Given the description of an element on the screen output the (x, y) to click on. 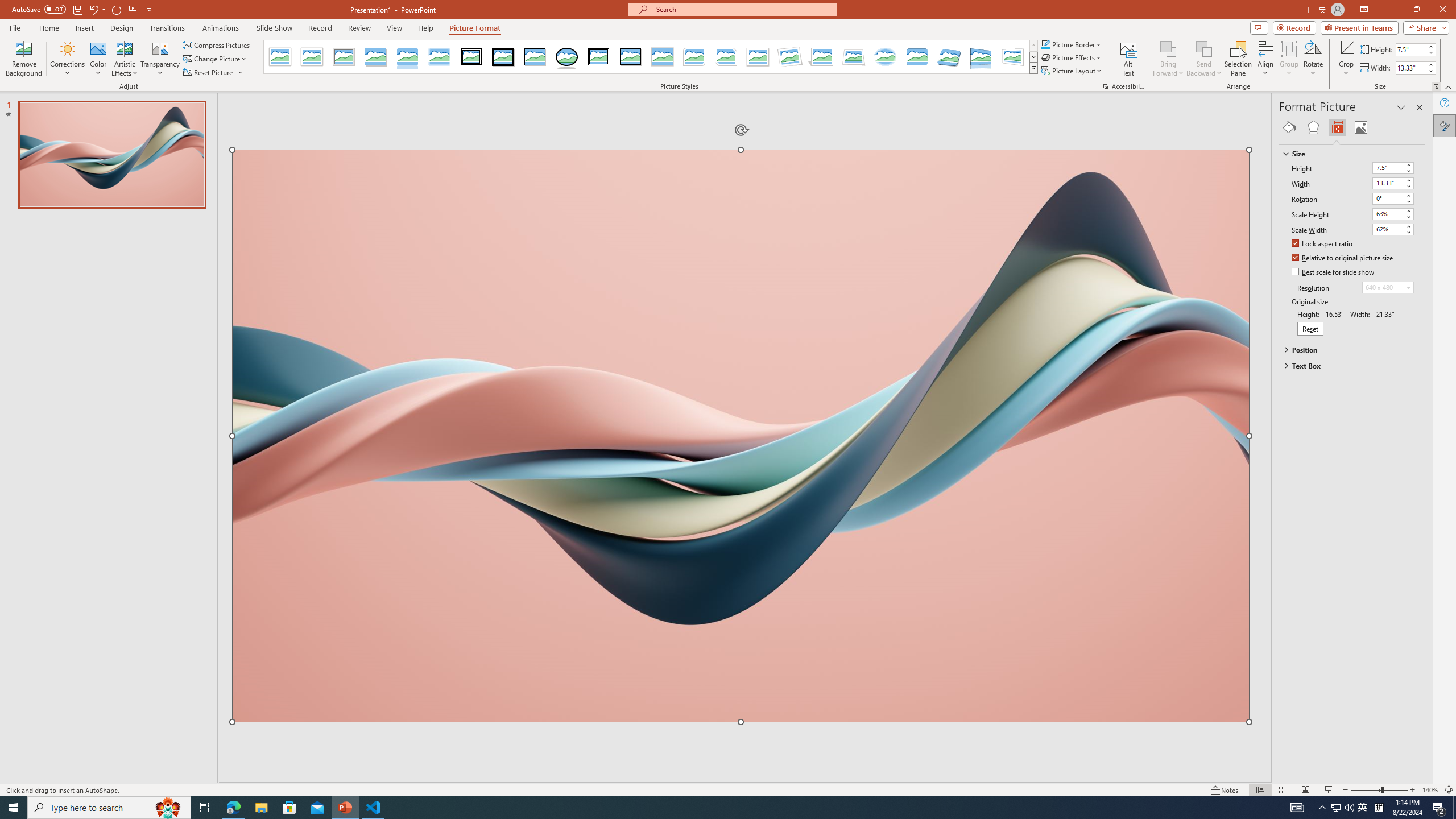
Open (1408, 287)
Format Picture (1444, 125)
Double Frame, Black (471, 56)
Close pane (1419, 107)
Reset Picture (208, 72)
Lock aspect ratio (1322, 244)
Crop (1345, 58)
Bevel Perspective Left, White (1013, 56)
Share (1423, 27)
Picture Layout (1072, 69)
Notes  (1225, 790)
Compound Frame, Black (598, 56)
Position (1347, 349)
Slide Sorter (1282, 790)
Alt Text (1128, 58)
